Given the description of an element on the screen output the (x, y) to click on. 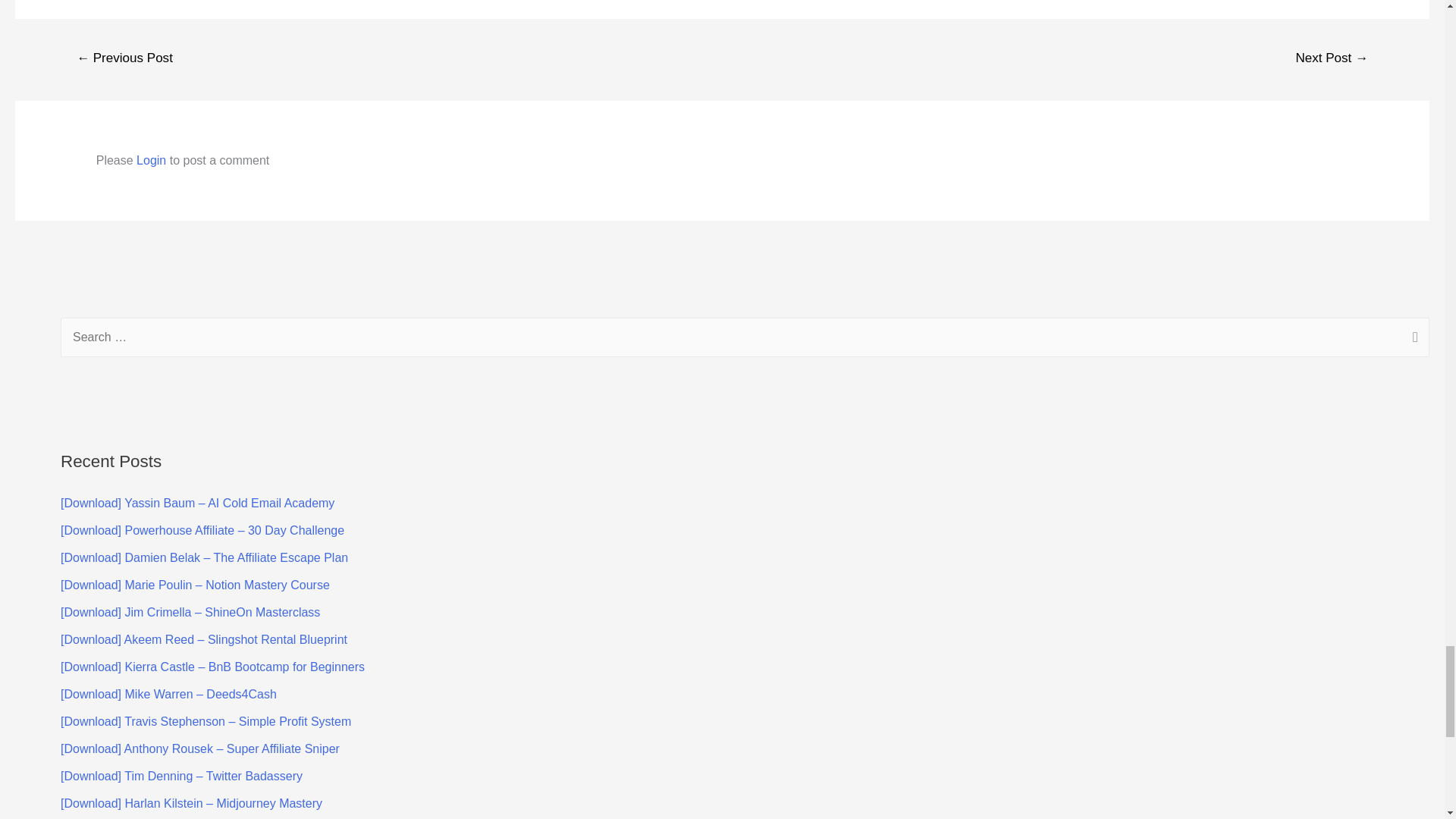
Login (150, 160)
